Given the description of an element on the screen output the (x, y) to click on. 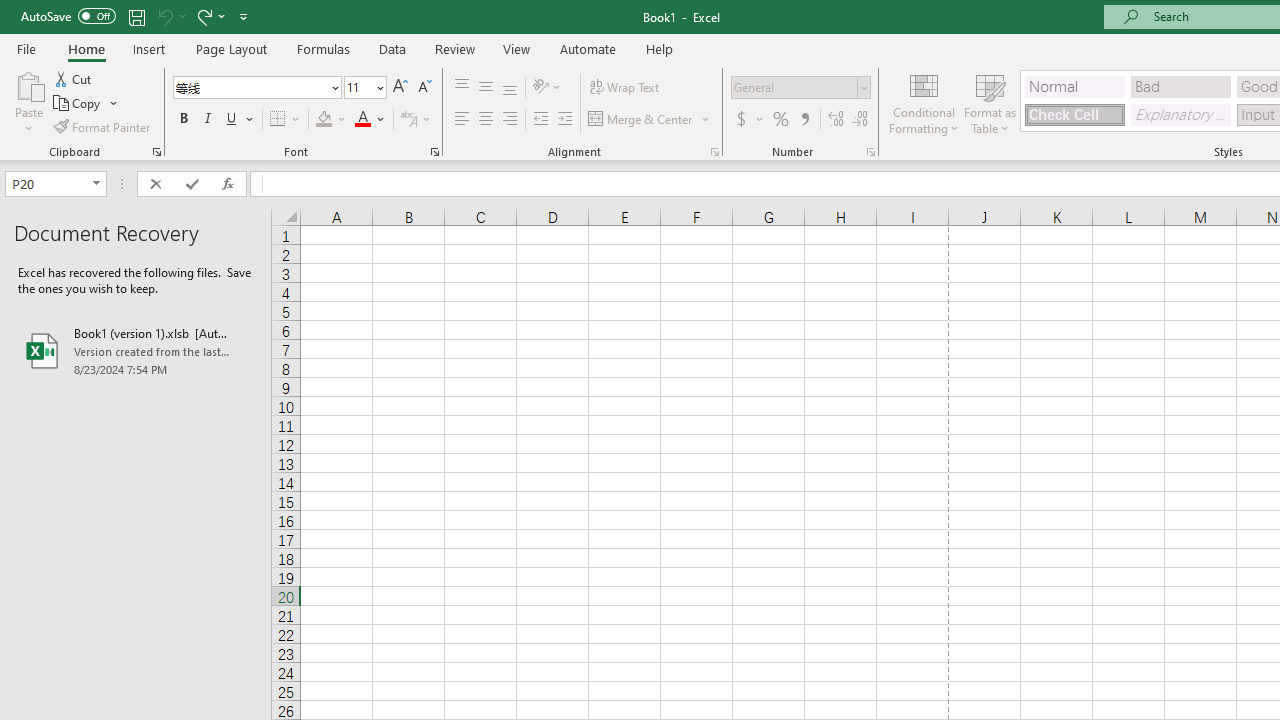
Bold (183, 119)
Show Phonetic Field (416, 119)
System (10, 11)
Insert (149, 48)
Underline (239, 119)
Fill Color RGB(255, 255, 0) (324, 119)
Name Box (46, 183)
Automate (588, 48)
Format as Table (990, 102)
Bottom Align (509, 87)
Quick Access Toolbar (136, 16)
Fill Color (331, 119)
Paste (28, 84)
Percent Style (781, 119)
Decrease Decimal (859, 119)
